Given the description of an element on the screen output the (x, y) to click on. 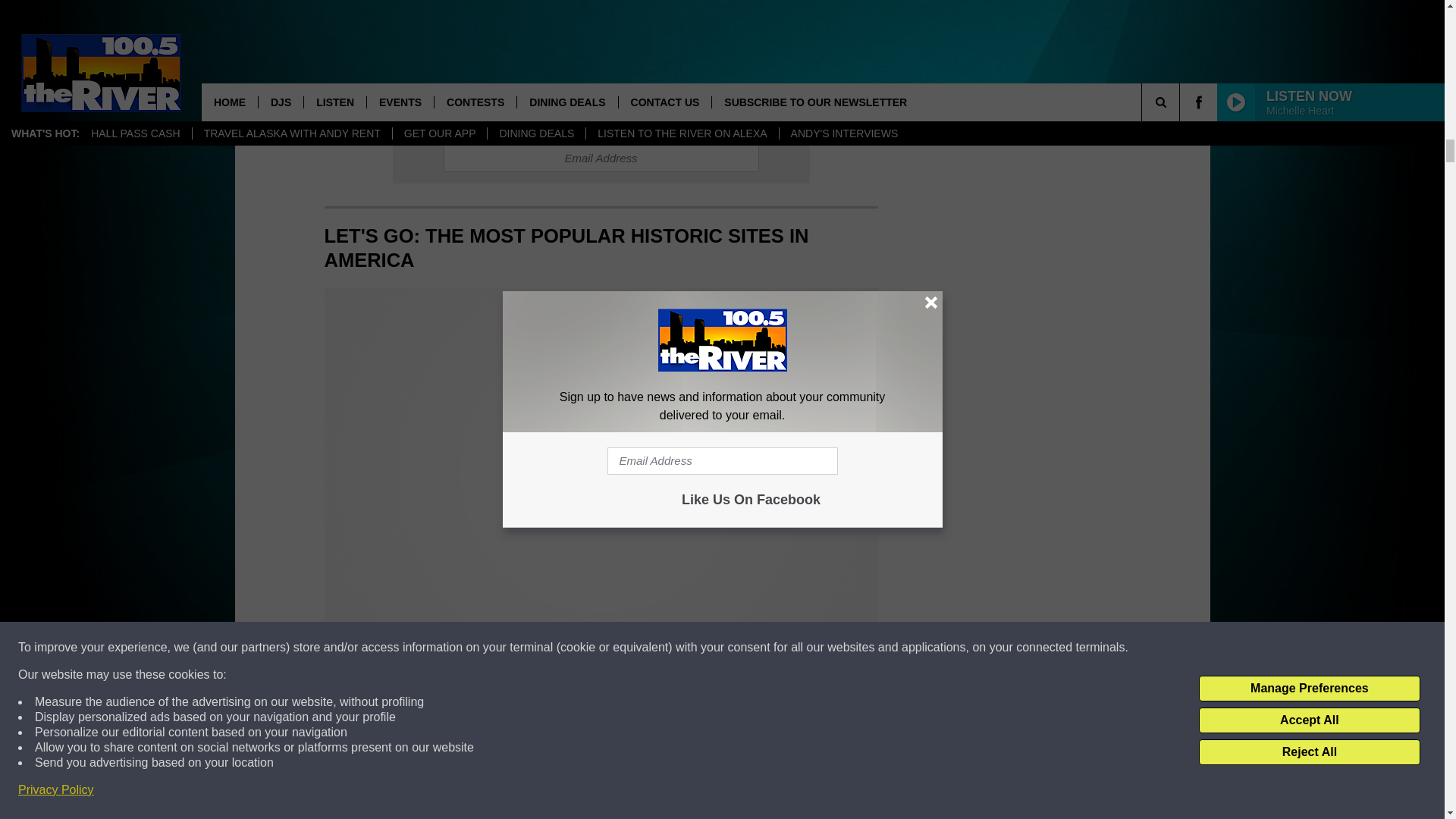
Email Address (600, 157)
